Given the description of an element on the screen output the (x, y) to click on. 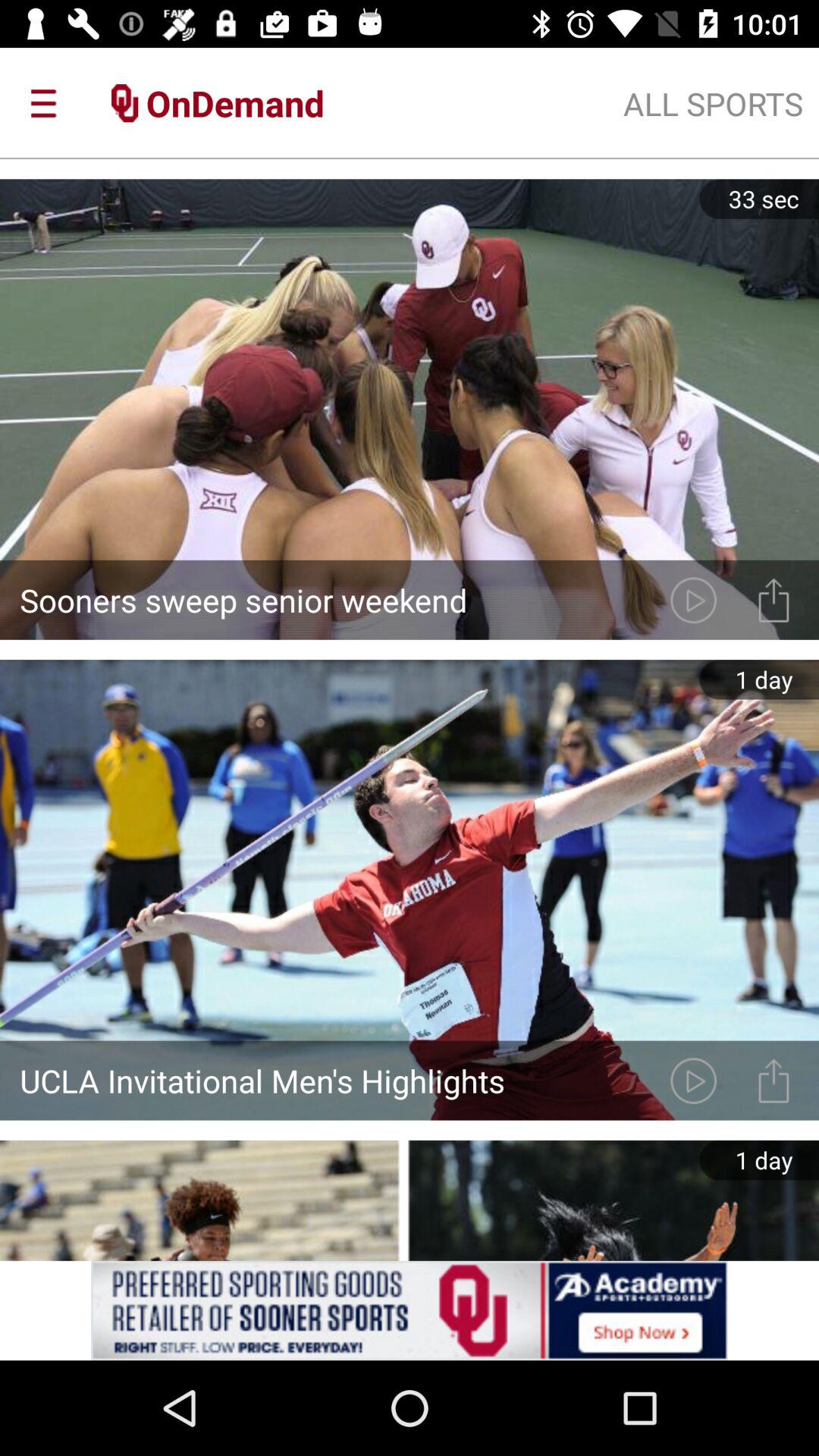
redirects the user to a website (409, 1310)
